Given the description of an element on the screen output the (x, y) to click on. 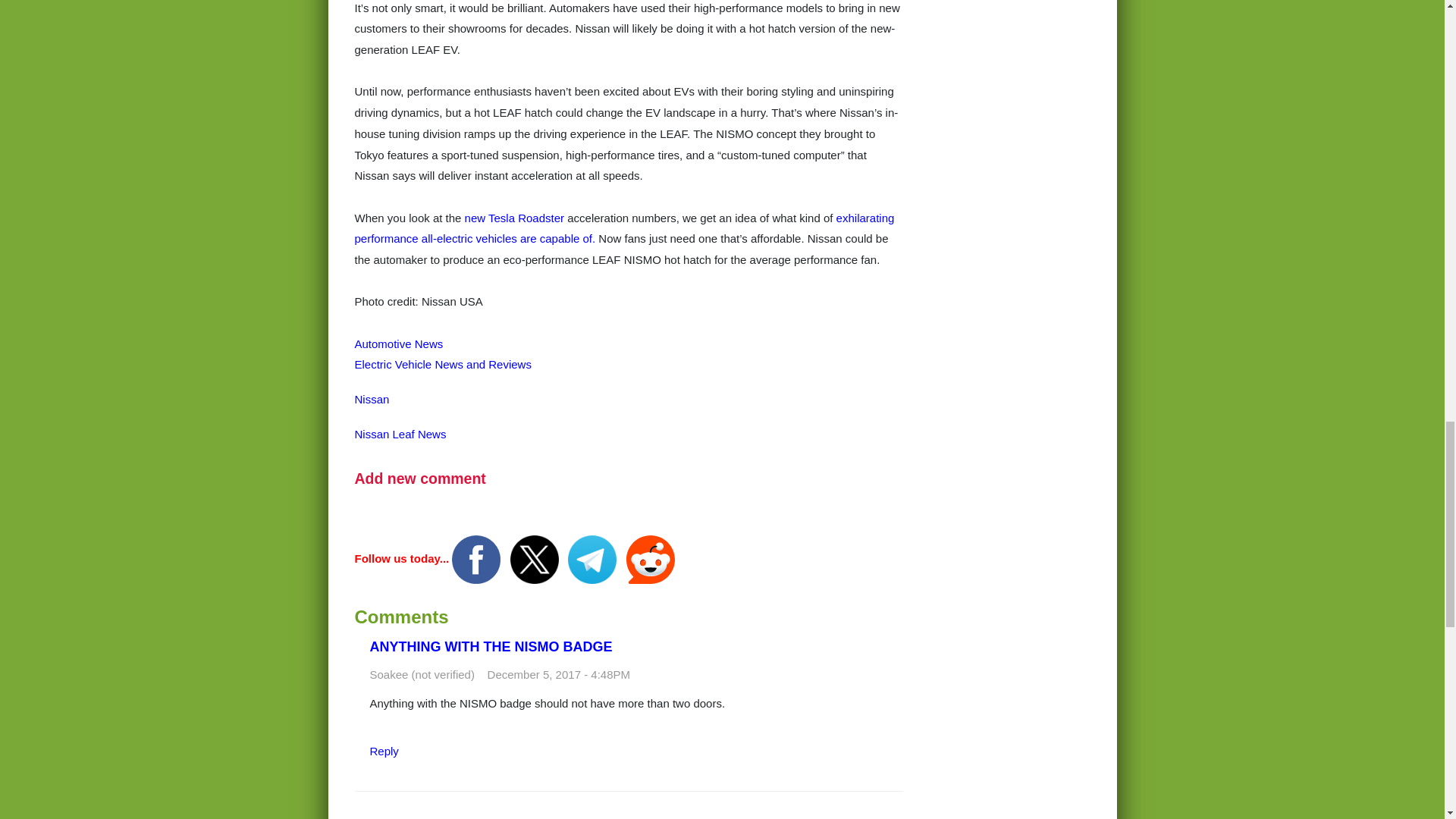
Join us on Reddit! (650, 558)
Automotive News (399, 343)
Add new comment (420, 478)
new Tesla Roadster (514, 217)
Electric Vehicle News and Reviews (443, 364)
Reply (383, 750)
Share your thoughts and opinions. (420, 478)
Nissan Leaf News (400, 433)
ANYTHING WITH THE NISMO BADGE (490, 646)
Join us on Telegram! (593, 558)
Nissan (372, 399)
